Given the description of an element on the screen output the (x, y) to click on. 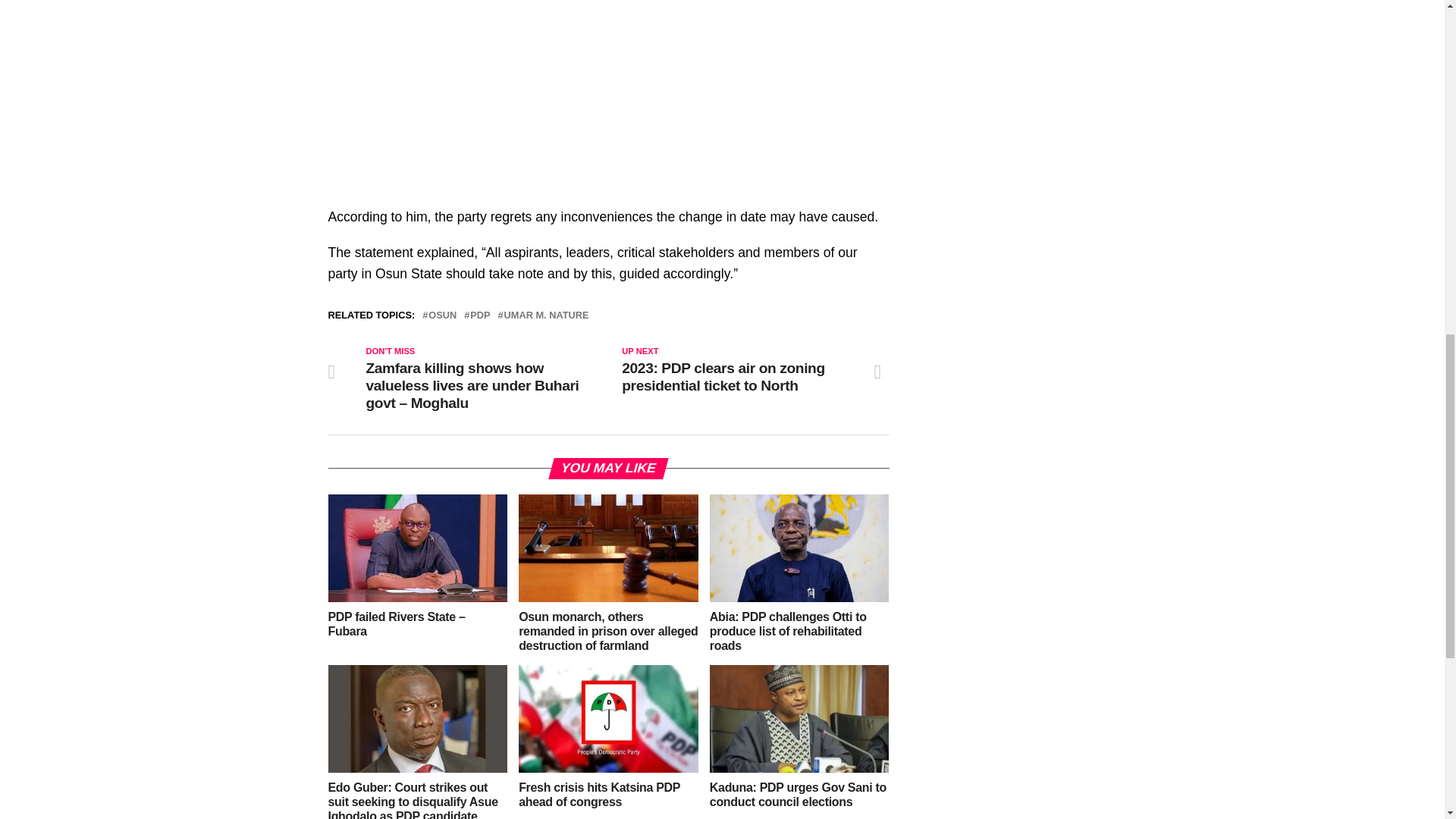
UMAR M. NATURE (545, 316)
PDP (479, 316)
OSUN (442, 316)
